Given the description of an element on the screen output the (x, y) to click on. 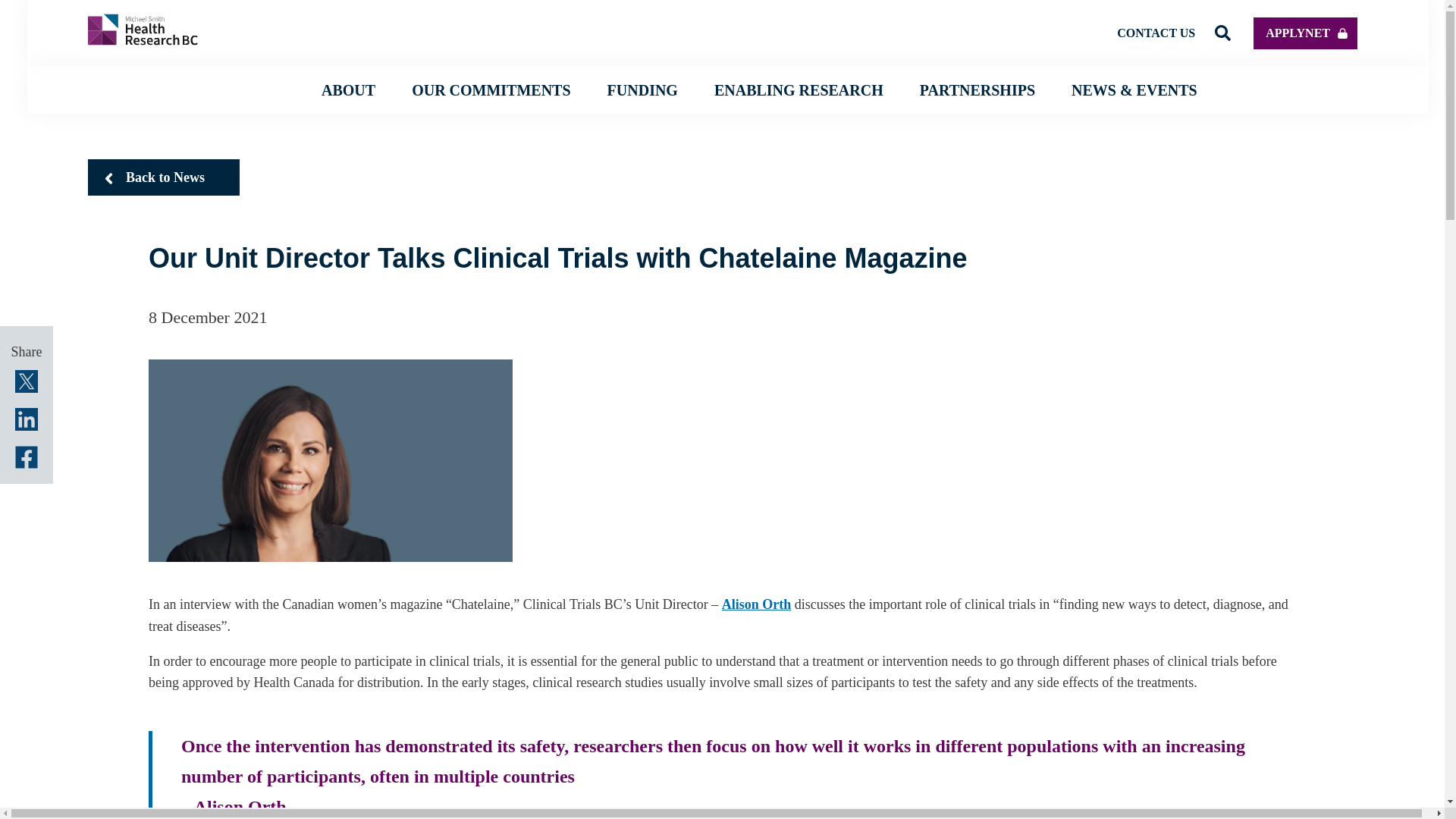
CONTACT US (1155, 32)
FUNDING (642, 89)
APPLYNET (1304, 32)
ABOUT (348, 89)
ENABLING RESEARCH (798, 89)
OUR COMMITMENTS (491, 89)
